Given the description of an element on the screen output the (x, y) to click on. 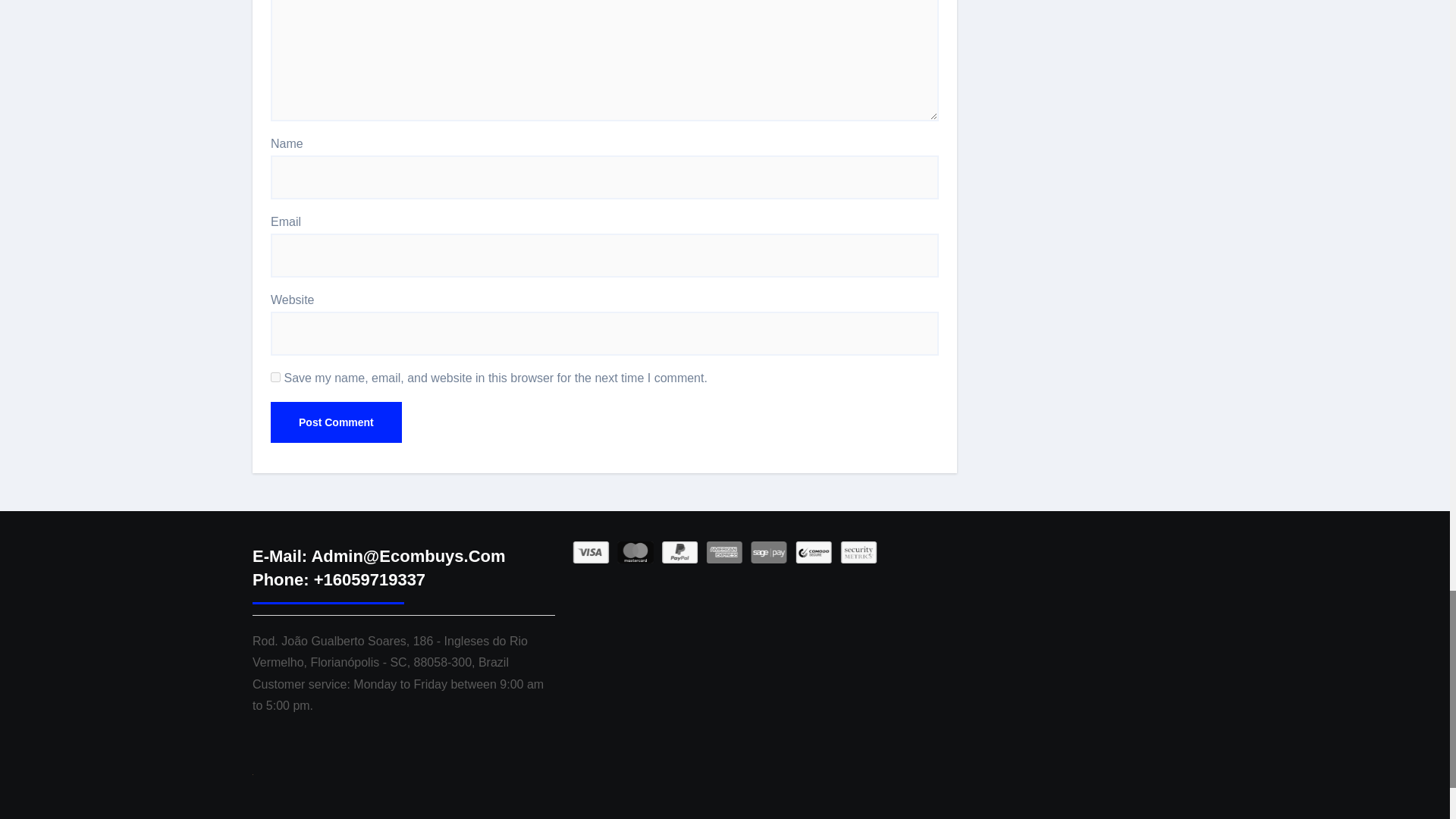
yes (275, 377)
Post Comment (335, 422)
